Given the description of an element on the screen output the (x, y) to click on. 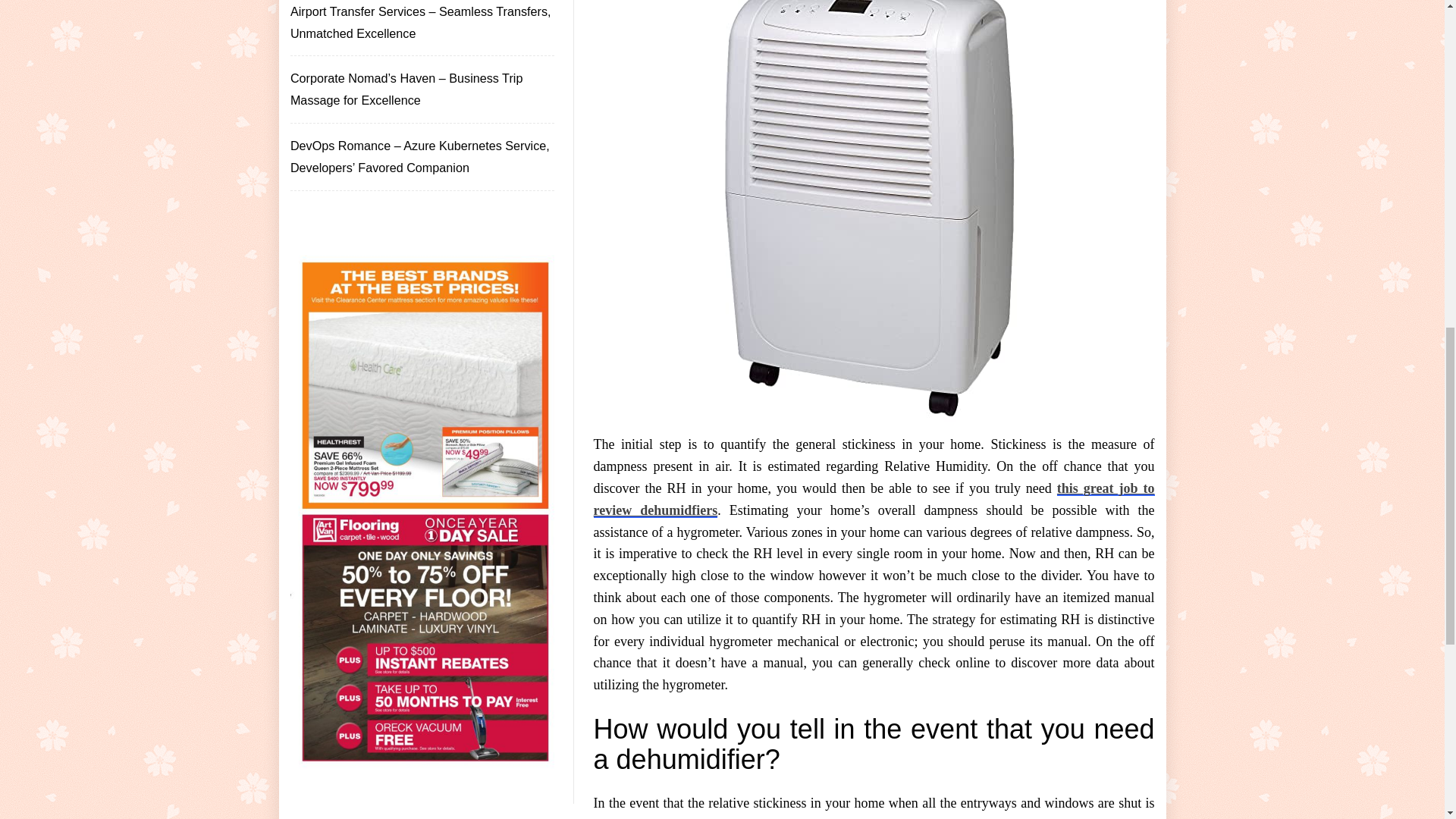
this great job to review dehumidfiers (874, 498)
